Given the description of an element on the screen output the (x, y) to click on. 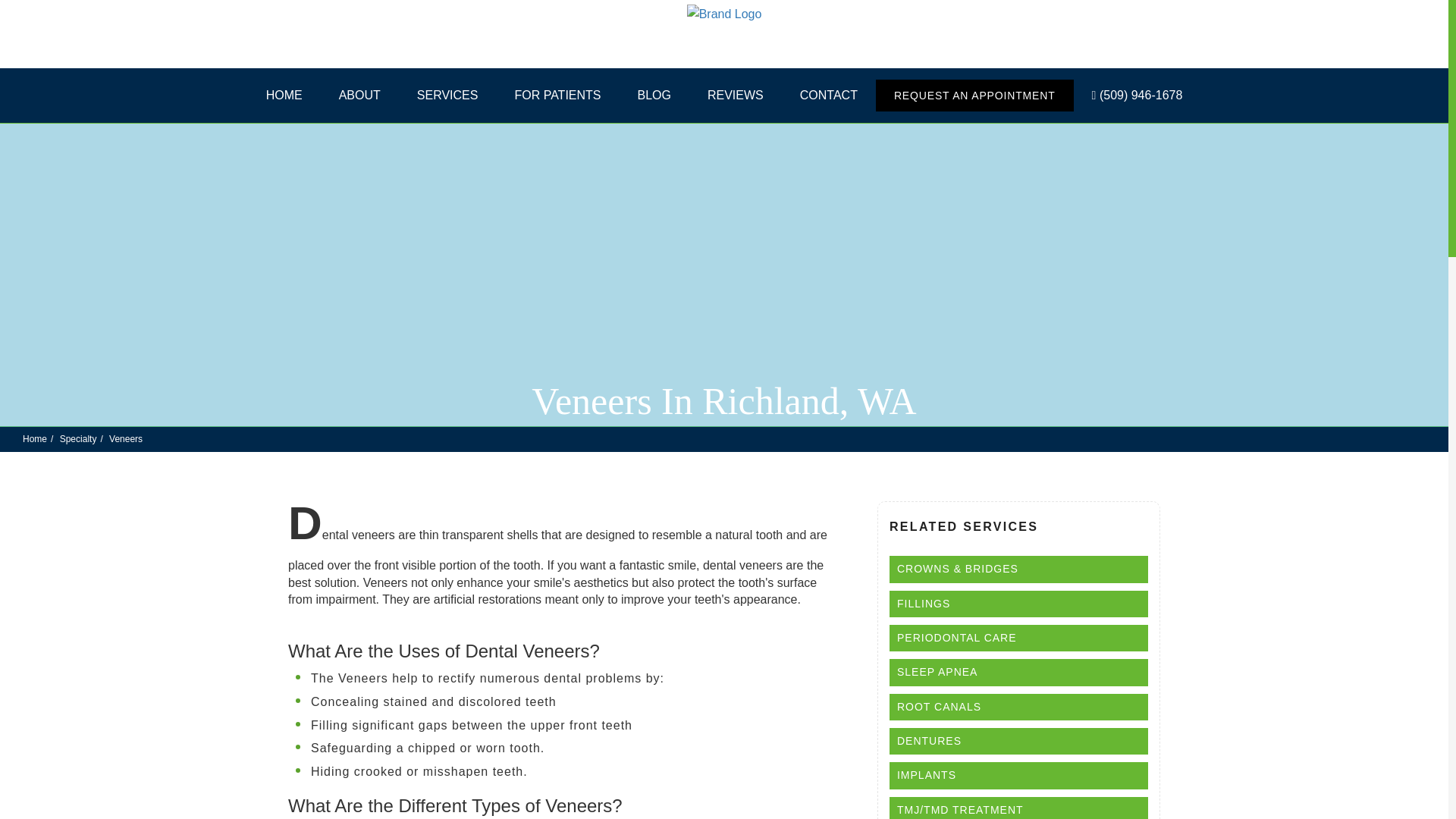
HOME (283, 95)
SERVICES (447, 95)
ABOUT (359, 95)
CONTACT (828, 95)
Brand Logo (724, 33)
REQUEST AN APPOINTMENT (975, 95)
FOR PATIENTS (557, 95)
REVIEWS (734, 95)
BLOG (653, 95)
